Given the description of an element on the screen output the (x, y) to click on. 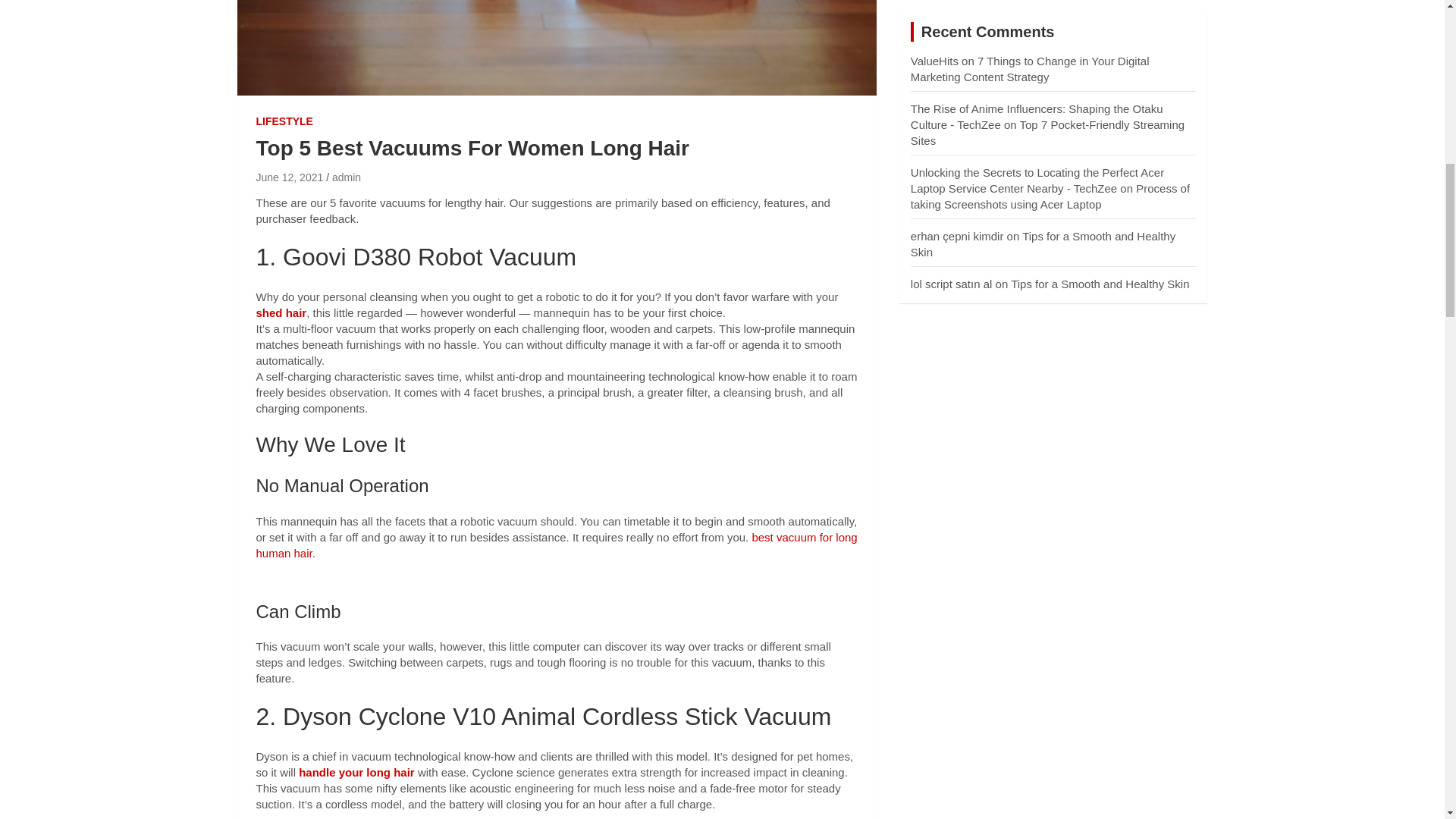
June 12, 2021 (289, 177)
shed hair (281, 312)
handle your long hair (357, 771)
Top 5 Best Vacuums For Women Long Hair (289, 177)
best vacuum for long human hair (556, 544)
LIFESTYLE (284, 121)
admin (346, 177)
